Given the description of an element on the screen output the (x, y) to click on. 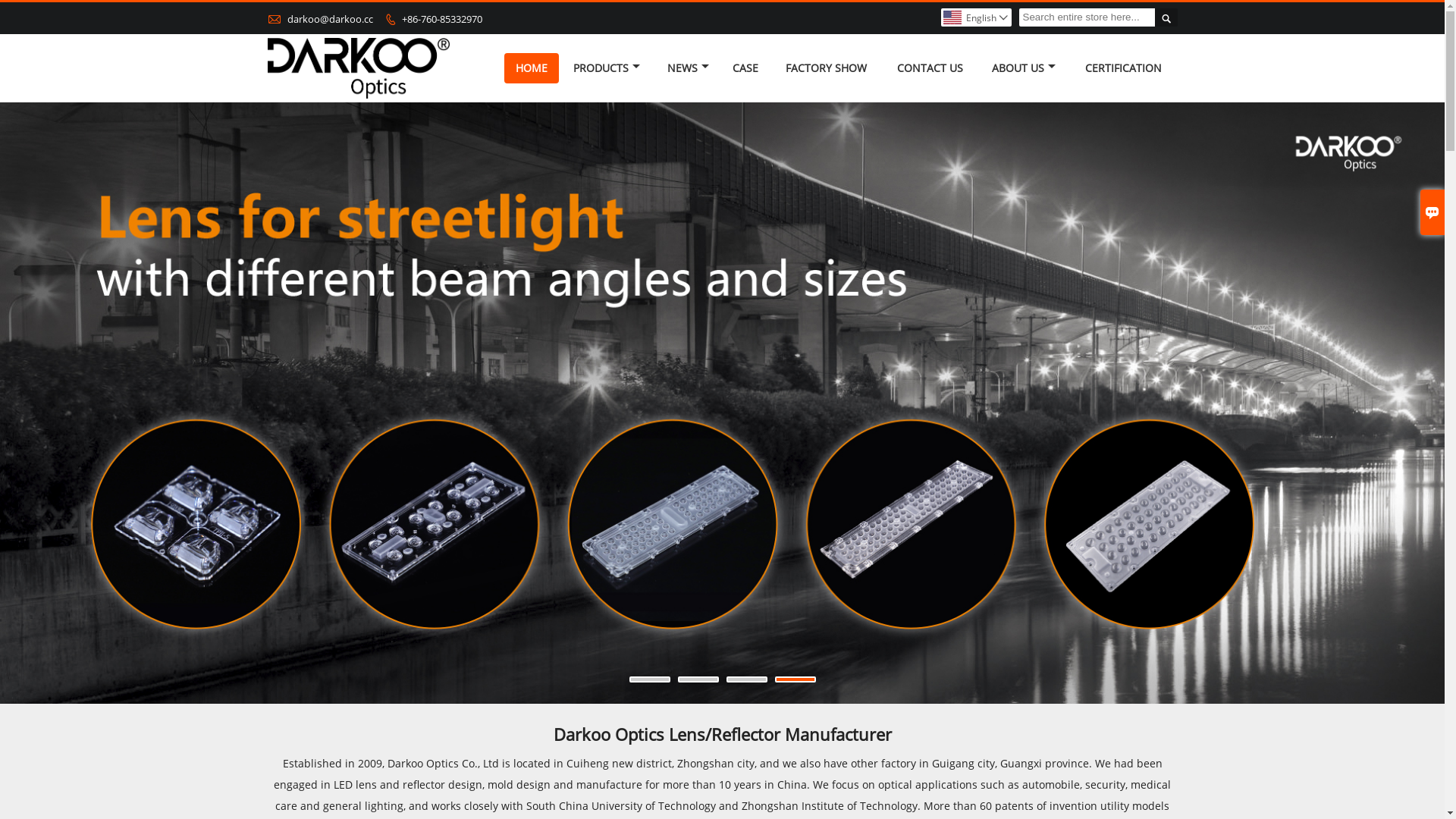
CASE Element type: text (745, 68)
3 Element type: text (746, 679)
CONTACT US Element type: text (929, 68)
ABOUT US Element type: text (1023, 68)
darkoo@darkoo.cc Element type: text (329, 18)
NEWS Element type: text (688, 68)
1 Element type: text (649, 679)
PRODUCTS Element type: text (606, 68)
2 Element type: text (697, 679)
FACTORY SHOW Element type: text (826, 68)
CERTIFICATION Element type: text (1123, 68)
4 Element type: text (795, 679)
HOME Element type: text (531, 68)
+86-760-85332970 Element type: text (441, 18)
